Given the description of an element on the screen output the (x, y) to click on. 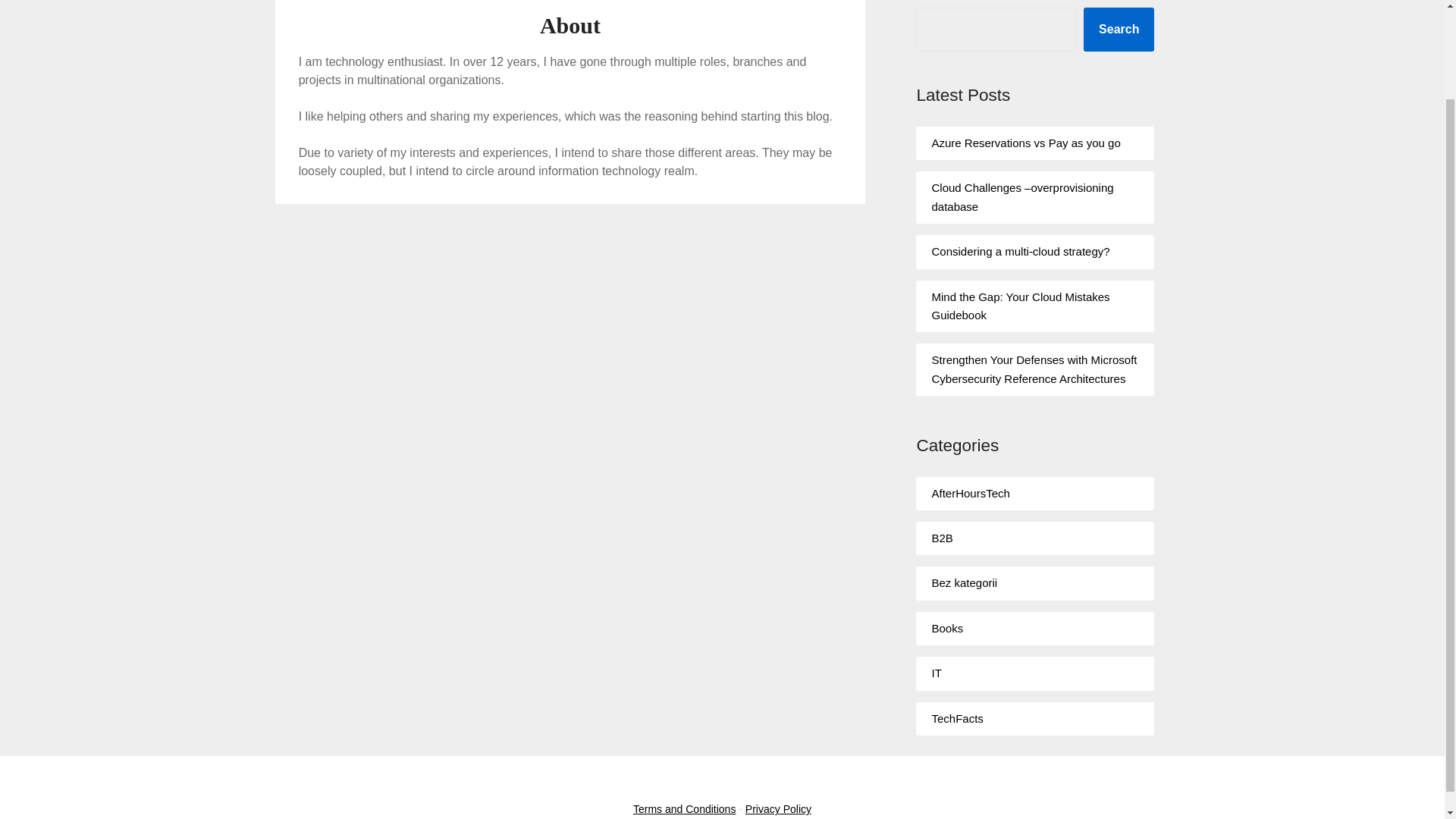
SuperbThemes (791, 777)
AfterHoursTech (970, 492)
Considering a multi-cloud strategy? (1020, 250)
TechFacts (956, 717)
Mind the Gap: Your Cloud Mistakes Guidebook (1020, 305)
Azure Reservations vs Pay as you go (1025, 142)
Accept All (1398, 689)
Search (1118, 29)
Bez kategorii (964, 582)
